Given the description of an element on the screen output the (x, y) to click on. 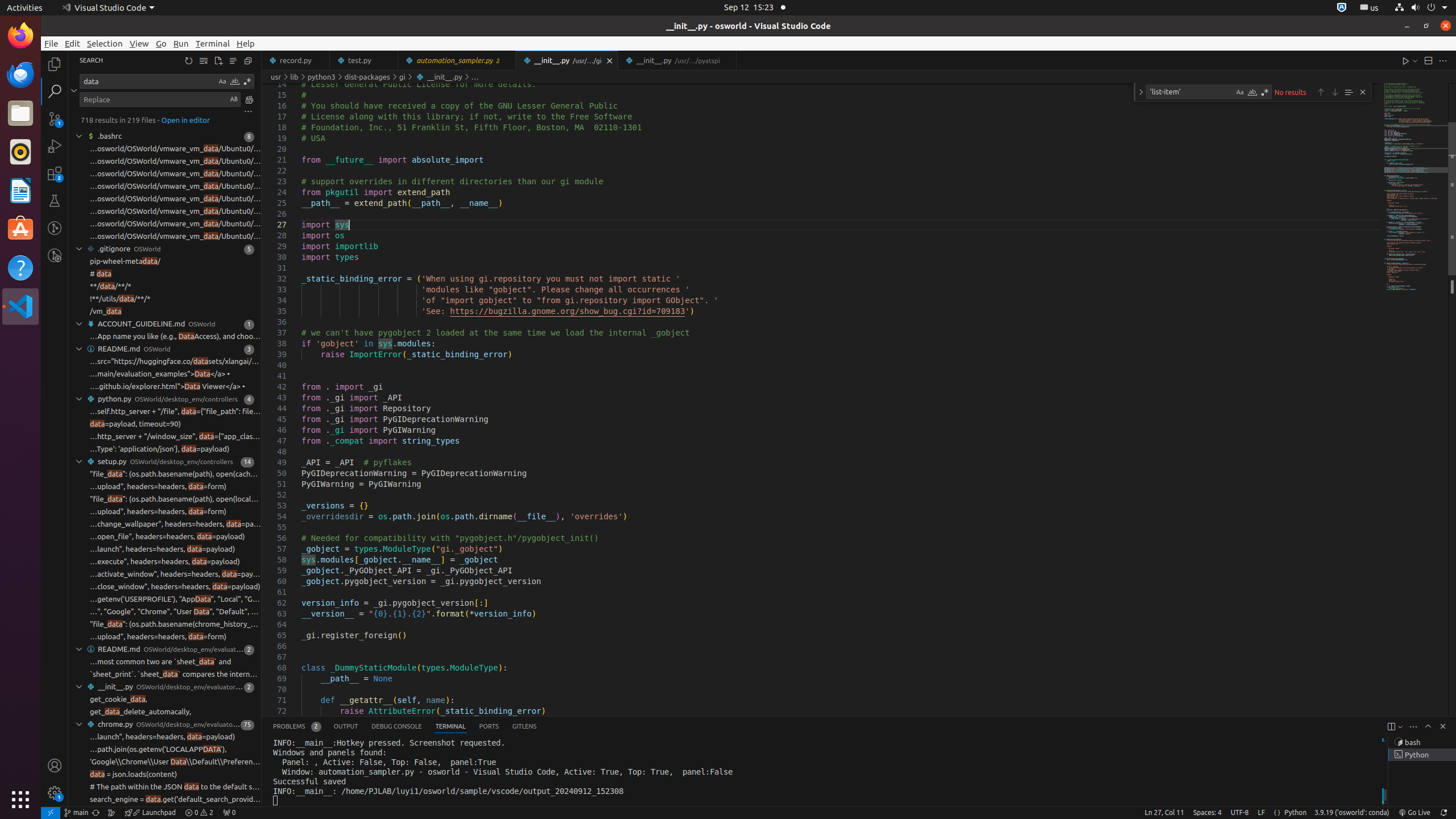
Replace All (Ctrl+Alt+Enter) Element type: push-button (248, 98)
…most common two are `sheet_data` and Element type: link (160, 661)
'alias vmbash='function _vmbash() { vmrun -T ws -gu user -gp password runScriptInGuest /home/PJLAB/luyi1/osworld/OSWorld/vmware_vm_data/Ubuntu0/Ubuntu0.vmx "/bin/bash" "$1 > /home/user/vm.log 2>&1" && vmrun -gu user -gp password copyFileFromGuestToHost /home/PJLAB/luyi1/osworld/OSWorld/vmware_vm_data/Ubuntu0/Ubuntu0.vmx /home/user/vm.log vm.log; }; _vmbash' vmrun -T ws -gu user -gp password runScriptInGuest /home/PJLAB/luyi1/osworld/OSWorld/vmware_vm_data/Ubuntu0/Ubuntu0.vmx "/bin/bash" "ip a > /home/user/vm.log" && vmrun -gu user -gp password copyFileFromGuestToHost /home/PJLAB/luyi1/osworld/OSWorld/vm' at column 455 found data Element type: tree-item (164, 198)
Debug Console (Ctrl+Shift+Y) Element type: page-tab (396, 726)
…App name you like (e.g., DataAccess), and choose the current Google gmail into field `User support email`. Element type: link (175, 335)
